Given the description of an element on the screen output the (x, y) to click on. 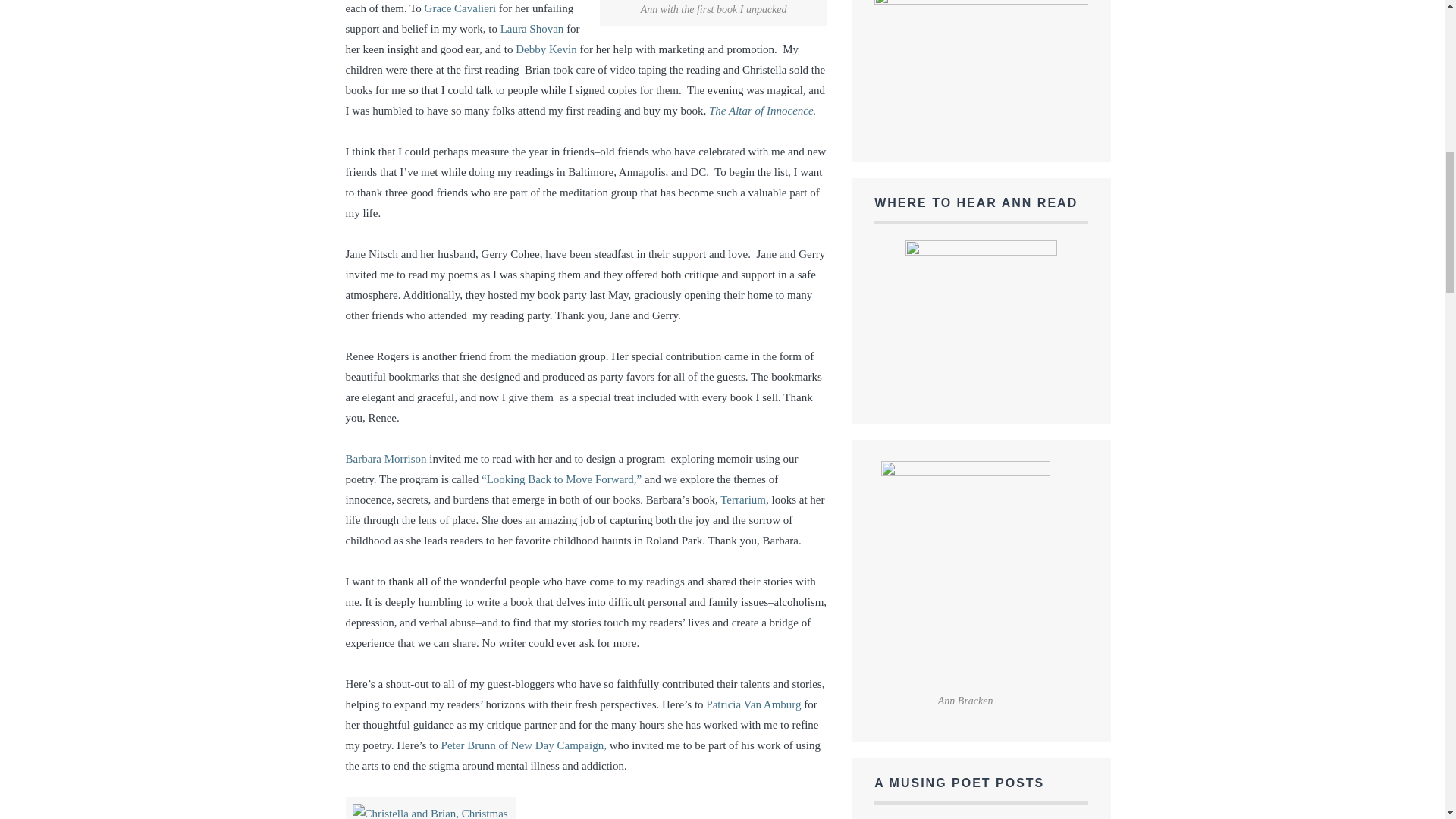
Peter Brunn of New Day Campaign, (525, 745)
The Altar of Innocence. (762, 110)
Patricia Van Amburg (753, 704)
Grace Cavalieri (460, 8)
Debby Kevin (545, 49)
Terrarium (742, 499)
Barbara Morrison (386, 458)
Laura Shovan (532, 28)
